Given the description of an element on the screen output the (x, y) to click on. 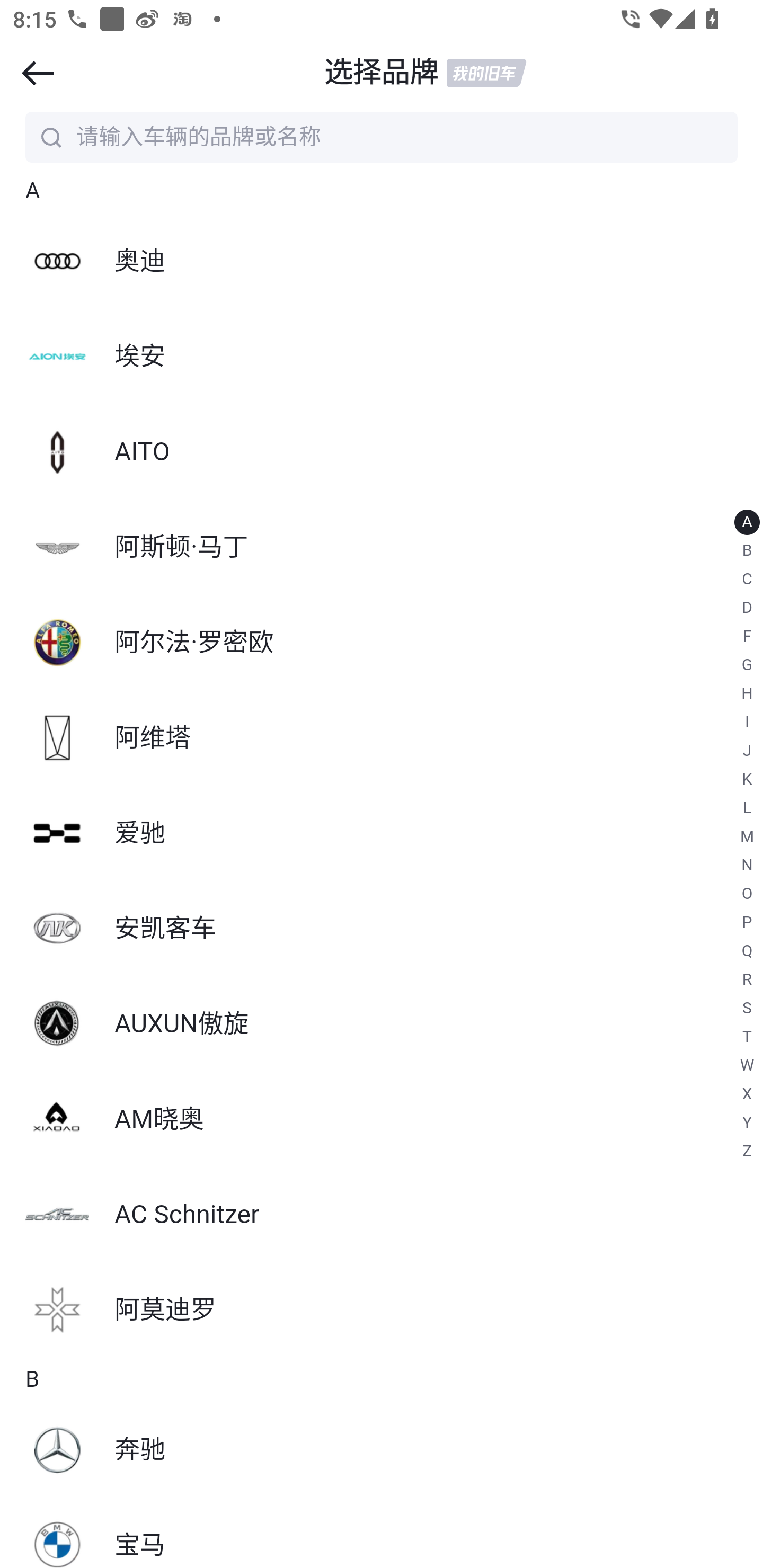
选择品牌 (381, 72)
奥迪 (381, 261)
埃安 (381, 356)
AITO (381, 451)
阿斯顿·马丁 (381, 546)
阿尔法·罗密欧 (381, 642)
阿维塔 (381, 738)
爱驰 (381, 833)
安凯客车 (381, 927)
AUXUN傲旋 (381, 1023)
AM晓奥 (381, 1119)
AC Schnitzer (381, 1214)
阿莫迪罗 (381, 1310)
免费估价 (381, 1441)
宝马 (381, 1532)
